Given the description of an element on the screen output the (x, y) to click on. 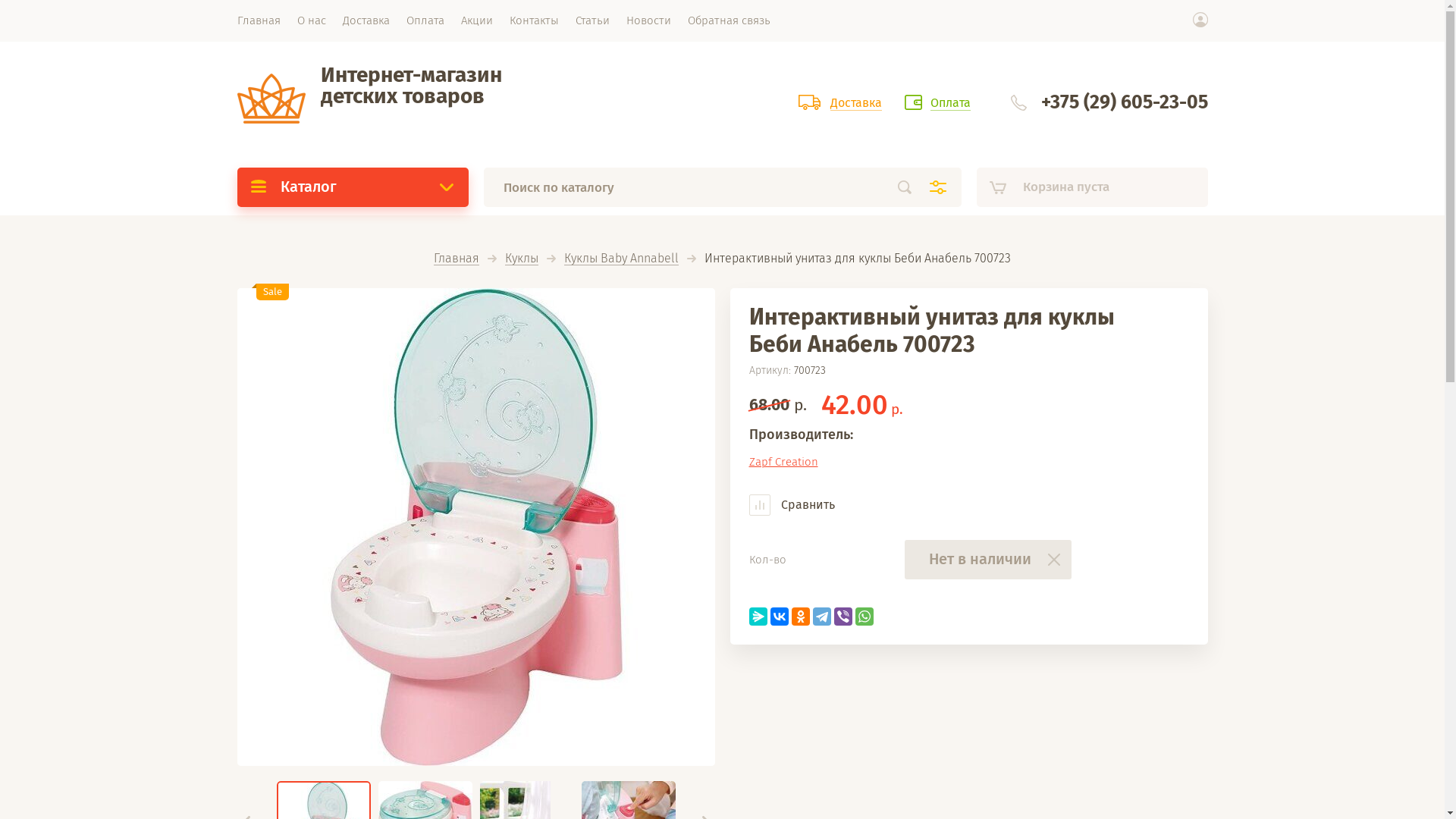
Viber Element type: hover (843, 616)
WhatsApp Element type: hover (864, 616)
Zapf Creation Element type: text (783, 461)
+375 (29) 605-23-05 Element type: text (1123, 102)
Telegram Element type: hover (821, 616)
